Given the description of an element on the screen output the (x, y) to click on. 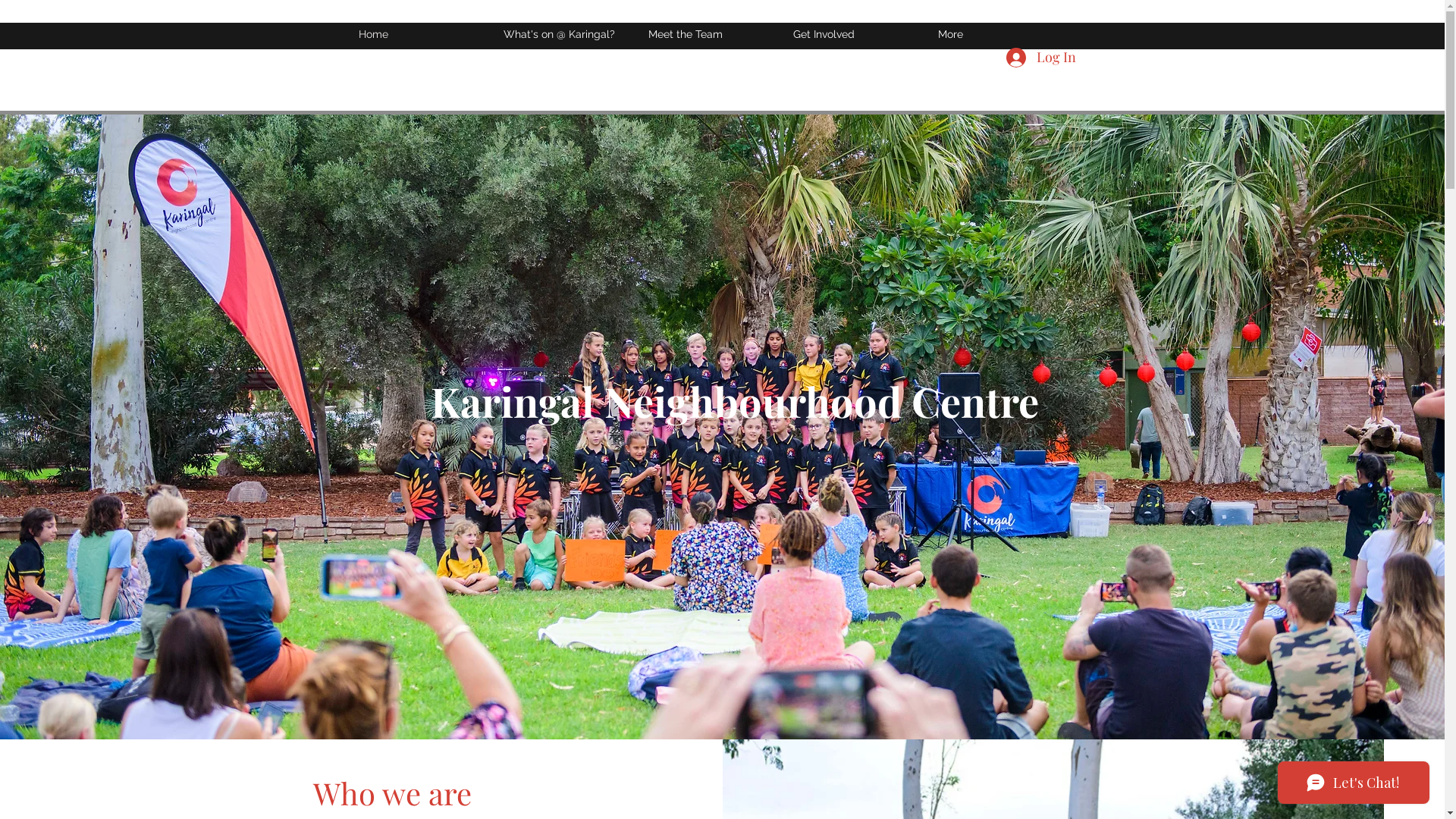
What's on @ Karingal? Element type: text (567, 33)
Home Element type: text (422, 33)
Meet the Team Element type: text (712, 33)
Get Involved Element type: text (857, 33)
Log In Element type: text (1039, 57)
